Given the description of an element on the screen output the (x, y) to click on. 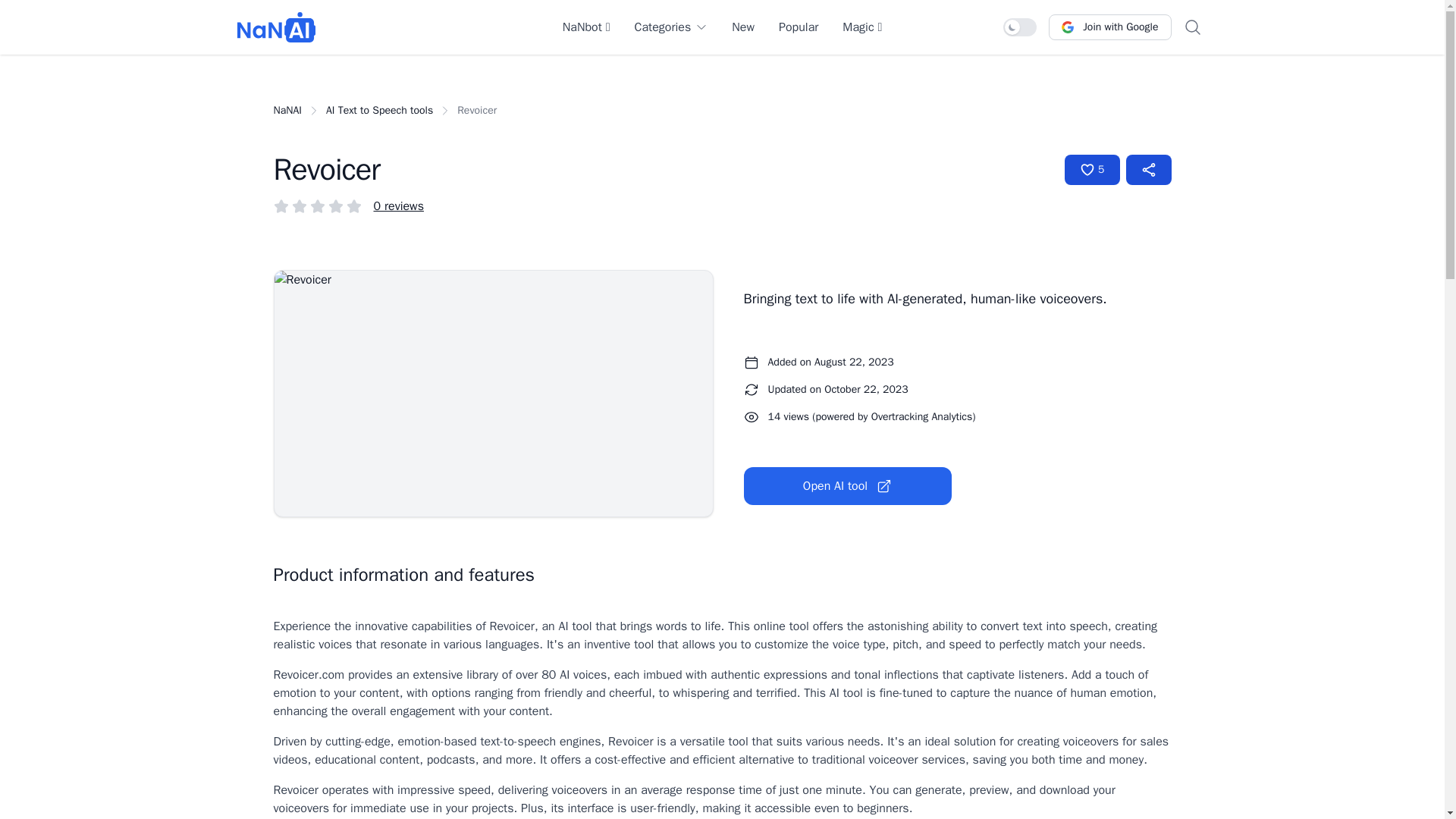
Categories (670, 27)
Open search (1191, 27)
5 (1091, 169)
Popular (798, 27)
Open AI tool (846, 485)
Dark mode toggle (1019, 27)
New (743, 27)
Join with Google (1109, 27)
NaNAI (287, 110)
Overtracking Analytics (921, 416)
AI Text to Speech tools (379, 110)
NaNAI (275, 27)
0 reviews (397, 206)
